Given the description of an element on the screen output the (x, y) to click on. 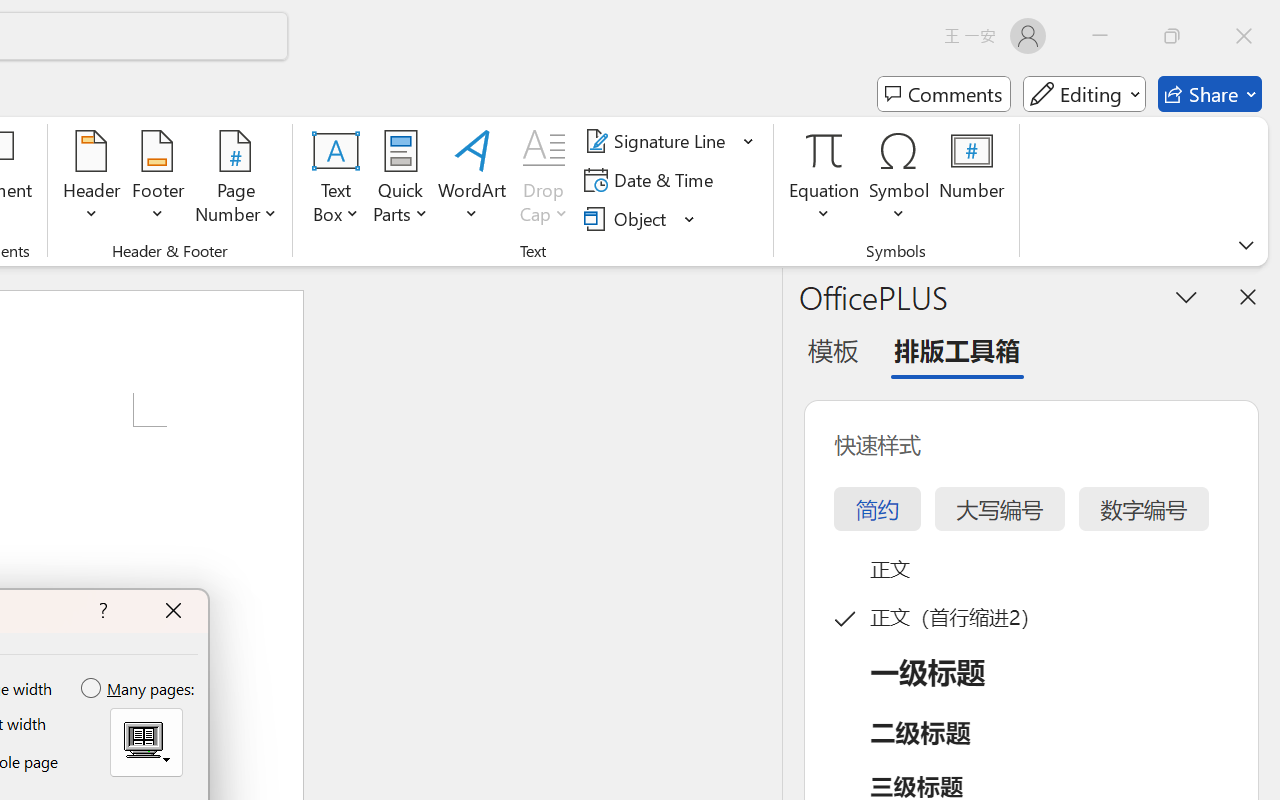
Number... (971, 179)
Page Number (236, 179)
Many pages: (139, 689)
MSO Generic Control Container (146, 742)
Quick Parts (400, 179)
Drop Cap (543, 179)
Text Box (335, 179)
Equation (823, 179)
